Given the description of an element on the screen output the (x, y) to click on. 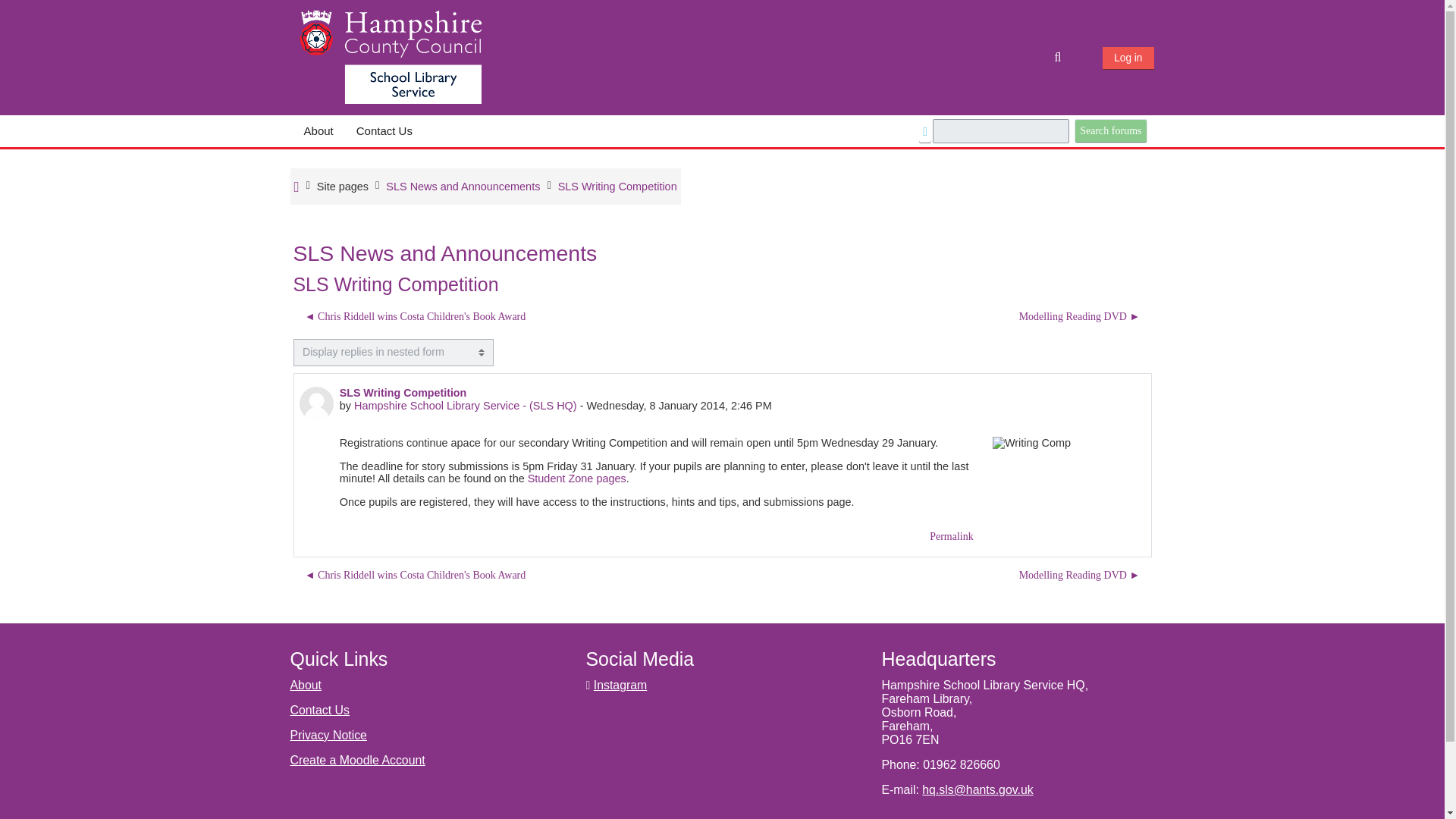
Toggle search input (1058, 57)
Forum (462, 186)
 Contact Us (384, 131)
Log in (1127, 57)
Search forums (1110, 130)
Privacy Notice (327, 735)
Contact Us (384, 131)
Create a Moodle Account (357, 759)
SLS Writing Competition (617, 186)
About (305, 684)
Hampshire School Library Service (342, 186)
Contact Us (319, 709)
Permalink (951, 536)
Student Zone pages (576, 478)
Permanent link to this post (951, 536)
